Given the description of an element on the screen output the (x, y) to click on. 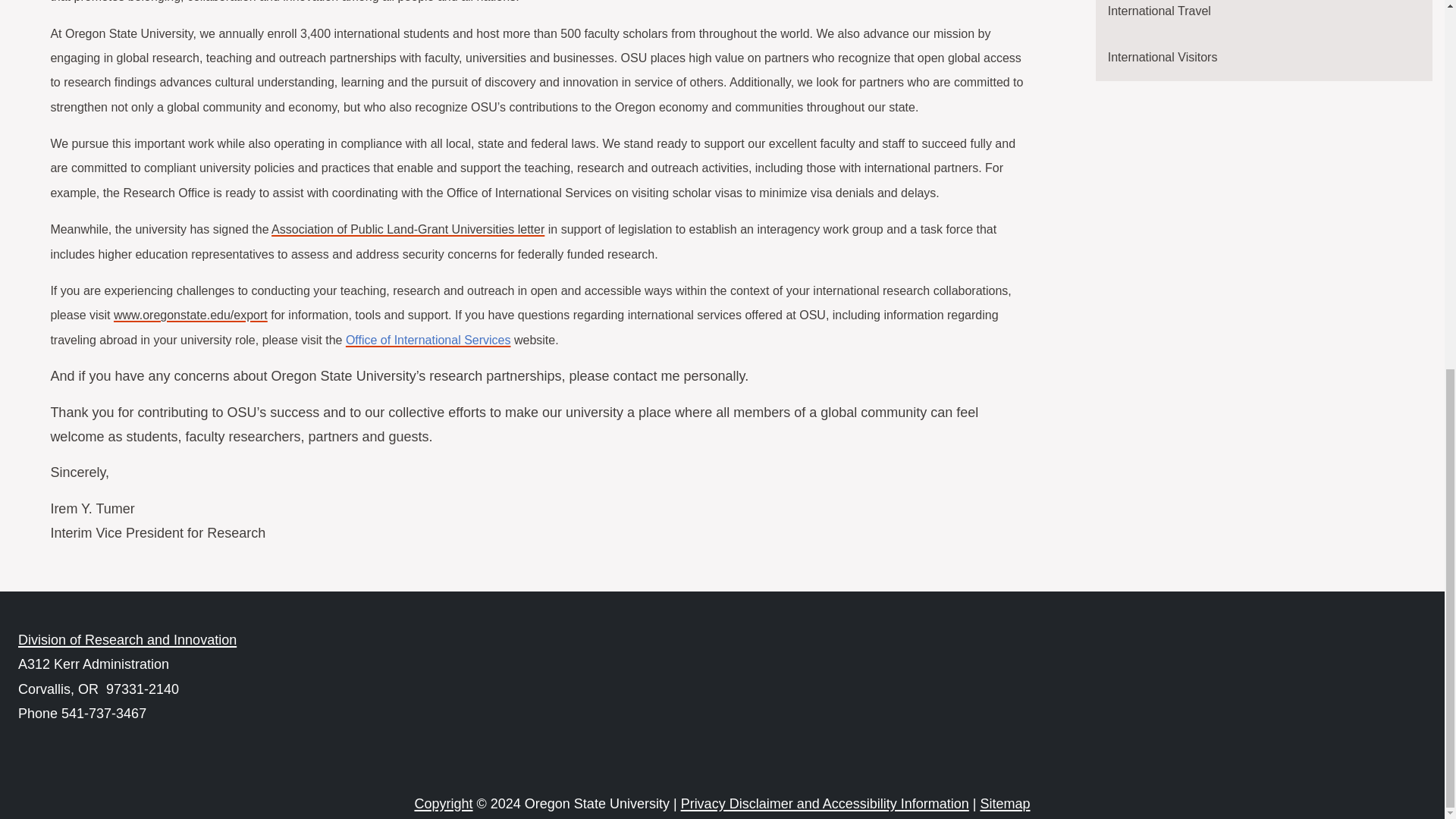
Office of International Services (428, 339)
Research Office Contacts (126, 639)
Association of Public Land-Grant Universities letter (407, 228)
Sitemap (1004, 803)
International Visitors (1264, 58)
Division of Research and Innovation (126, 639)
Copyright (442, 803)
Privacy Disclaimer and Accessibility Information (825, 803)
International Travel (1264, 17)
